Given the description of an element on the screen output the (x, y) to click on. 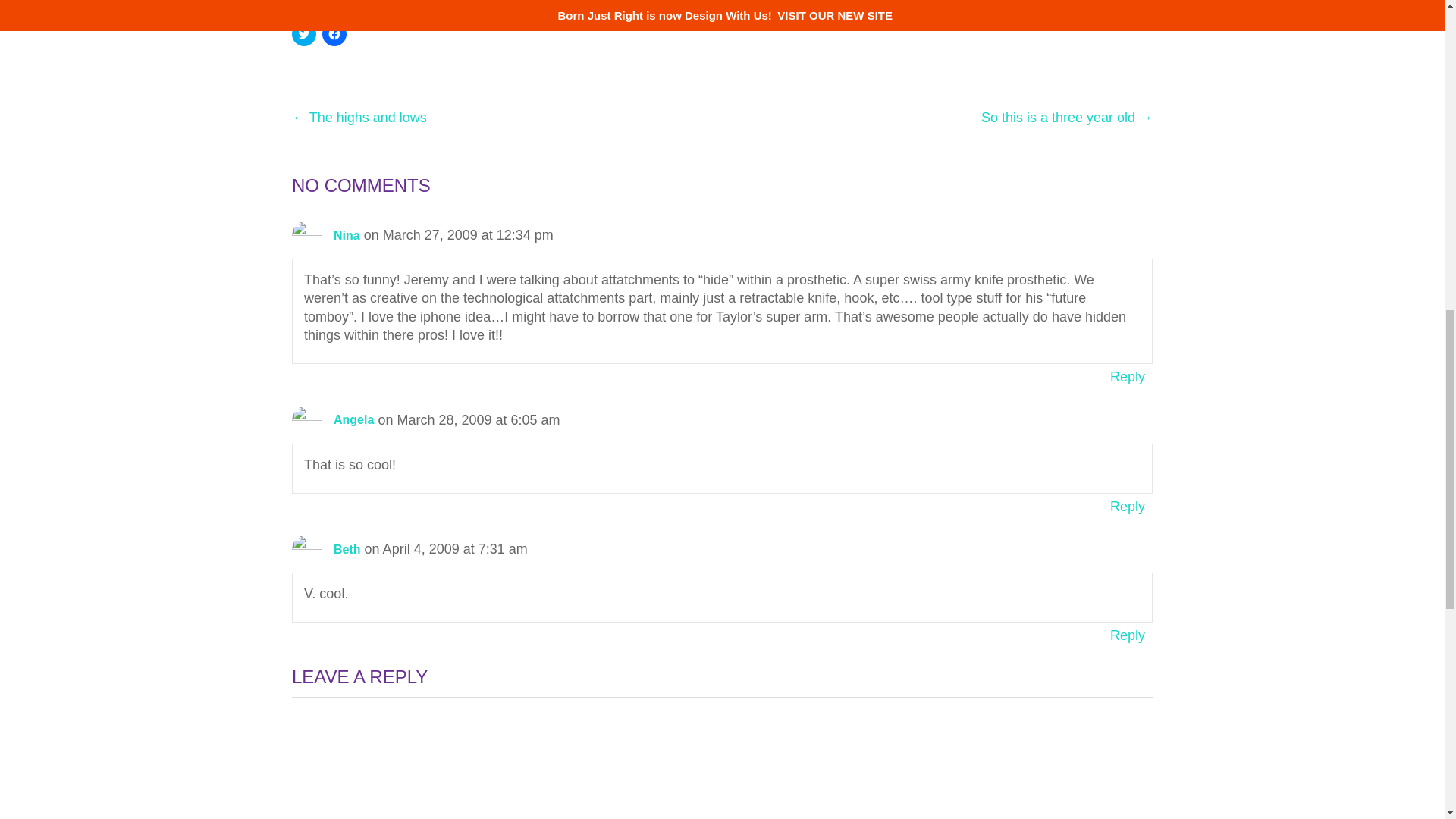
Click to share on Twitter (303, 33)
Comment Form (722, 757)
Click to share on Facebook (333, 33)
Angela (353, 419)
Reply (1127, 376)
Nina (346, 235)
